Given the description of an element on the screen output the (x, y) to click on. 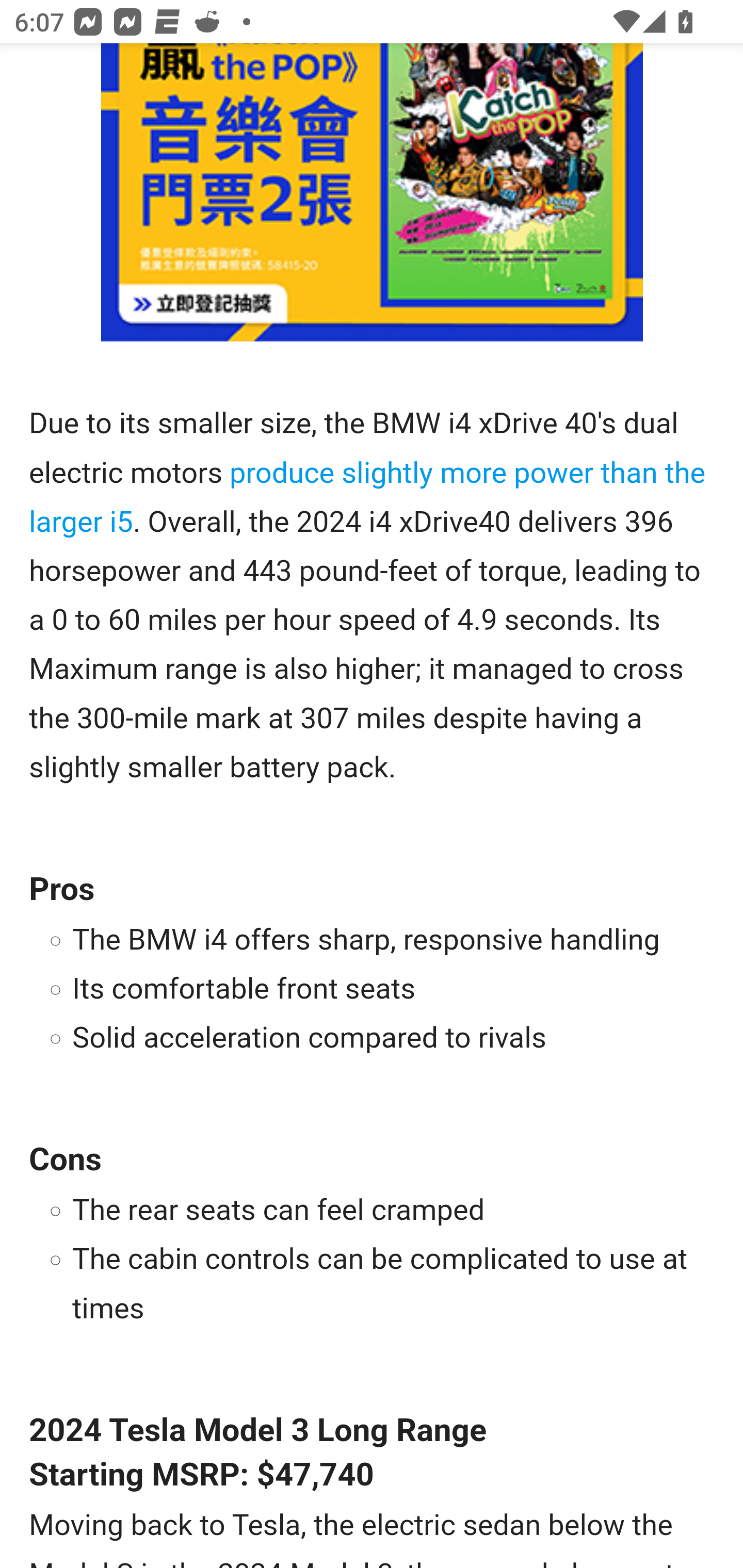
produce slightly more power than the larger i5 (366, 498)
